Given the description of an element on the screen output the (x, y) to click on. 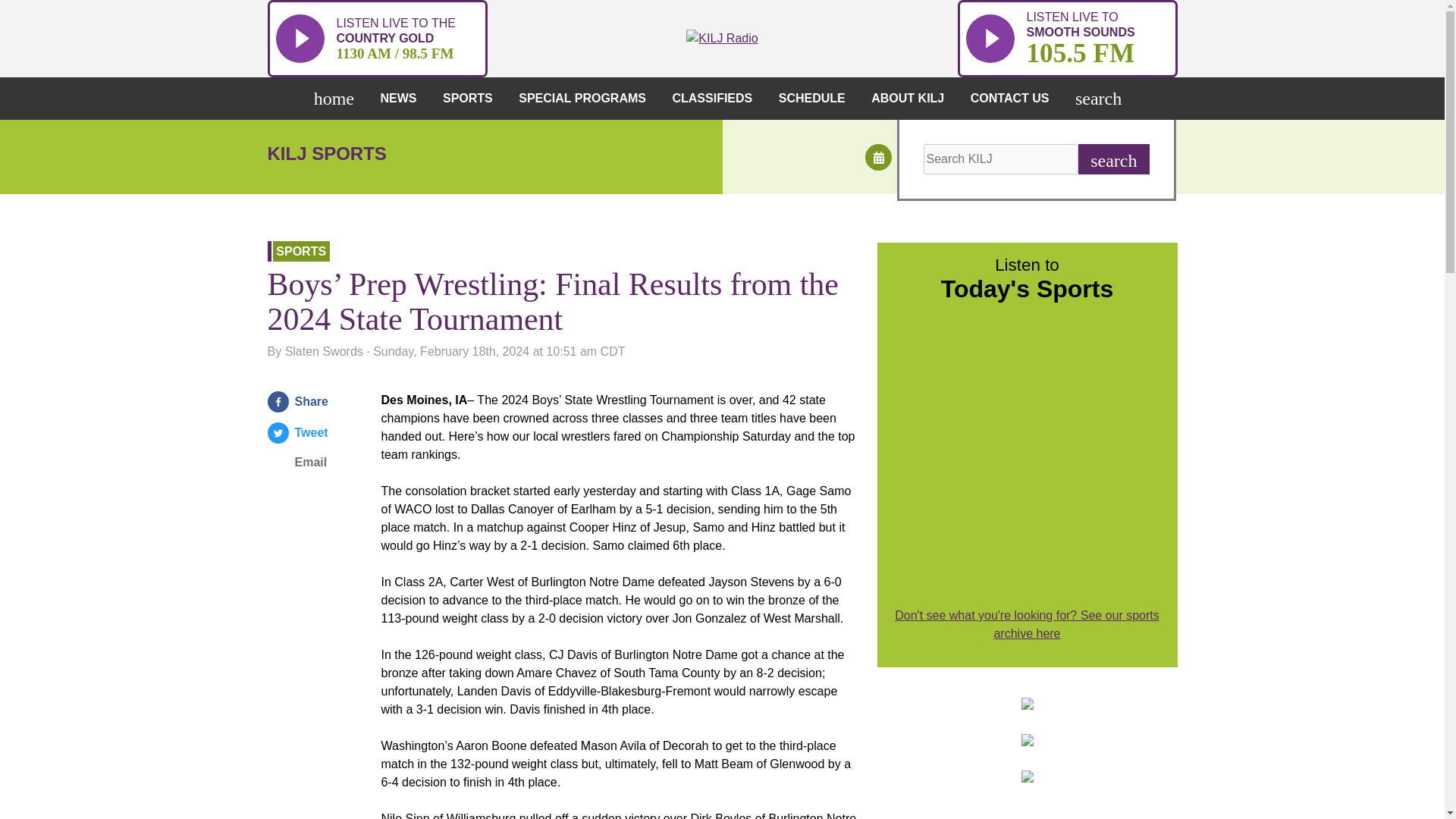
SPORTS (1066, 38)
NEWS (472, 97)
home (402, 97)
